Given the description of an element on the screen output the (x, y) to click on. 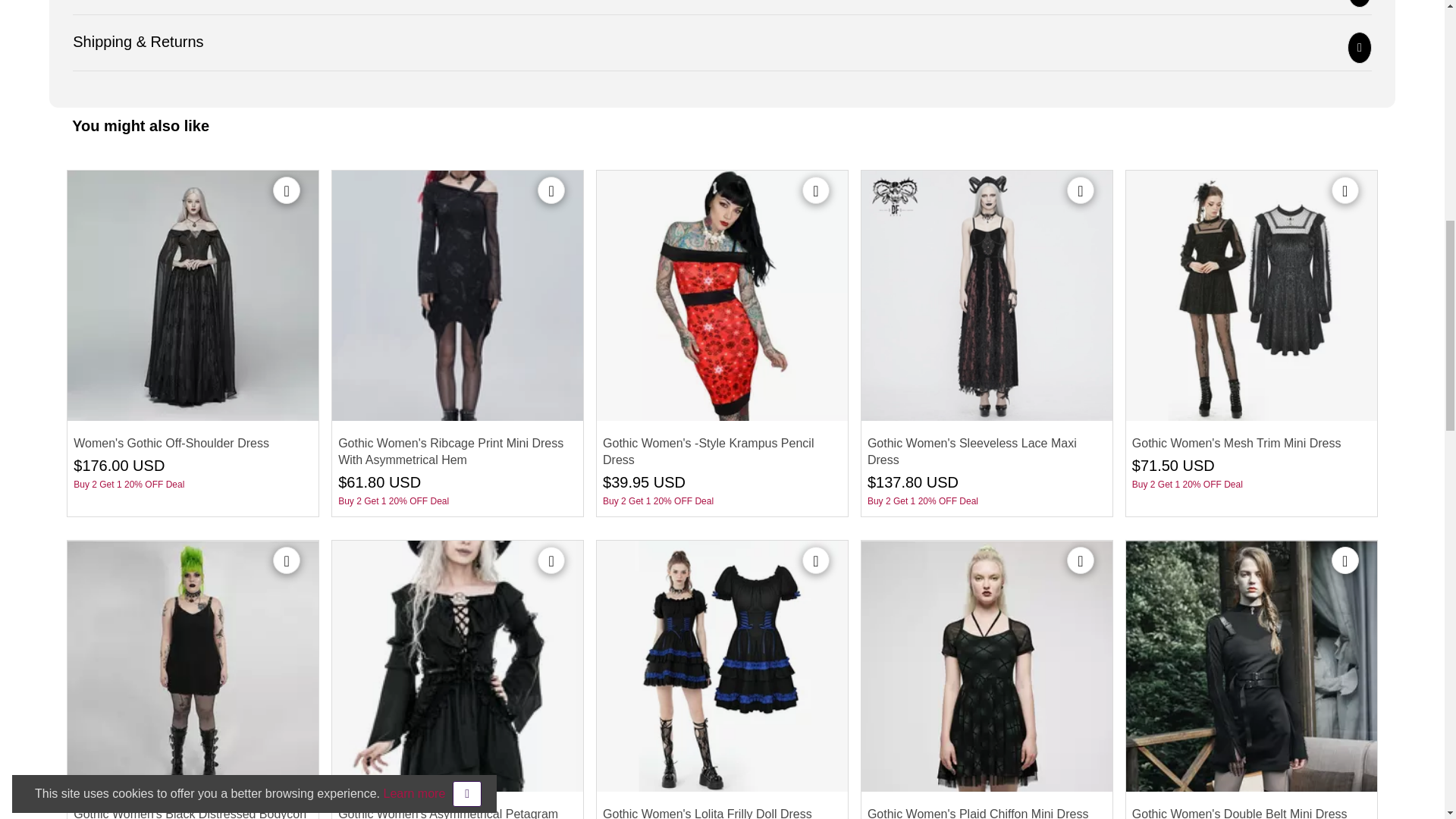
Women's Gothic Off-Shoulder Dress (192, 295)
